Given the description of an element on the screen output the (x, y) to click on. 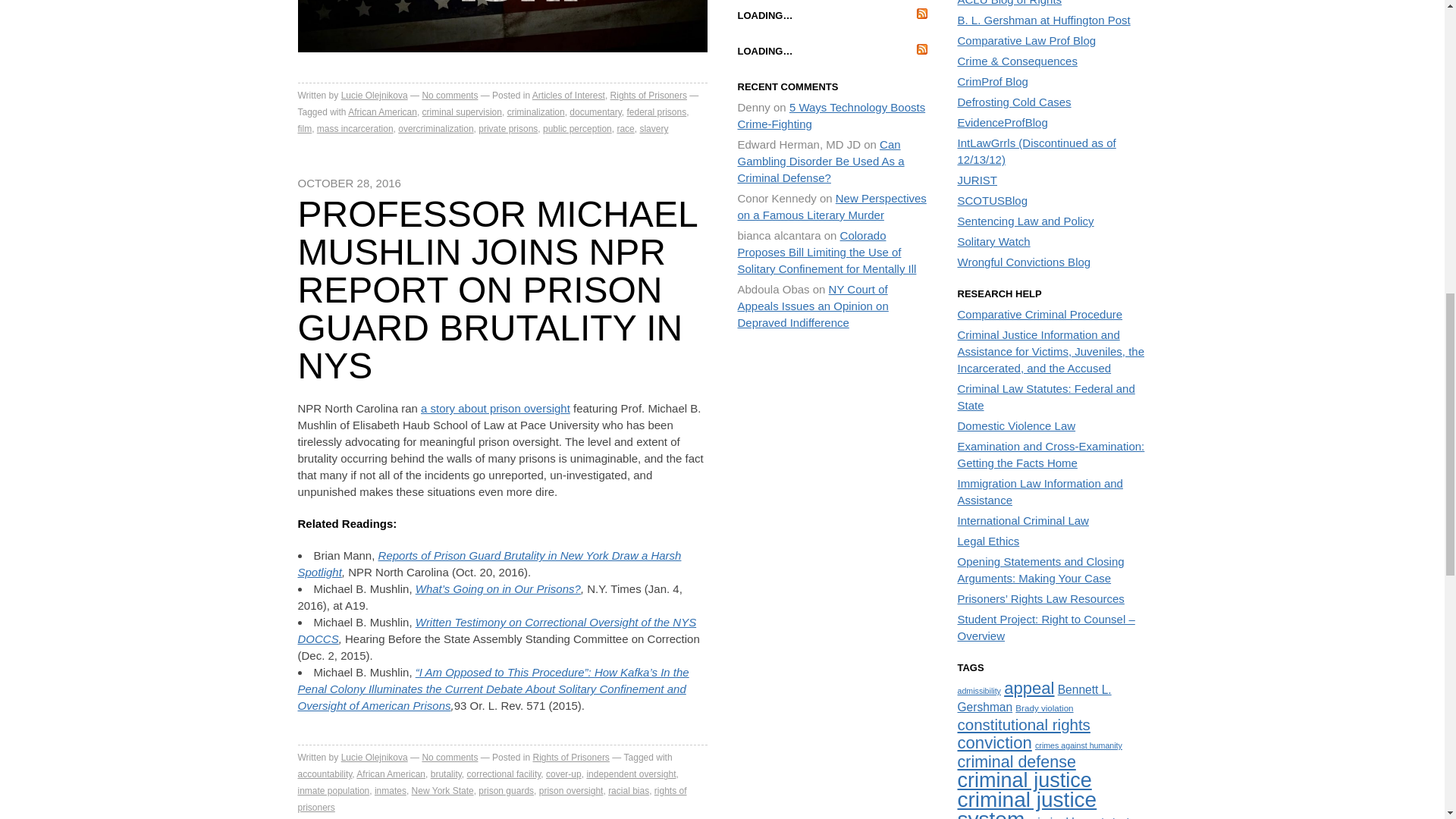
independent oversight (630, 774)
Posts by Lucie Olejnikova (373, 757)
federal prisons (655, 112)
criminalization (535, 112)
Lucie Olejnikova (373, 95)
slavery (653, 128)
accountability (324, 774)
overcriminalization (435, 128)
public perception (577, 128)
Posts by Lucie Olejnikova (373, 95)
